Given the description of an element on the screen output the (x, y) to click on. 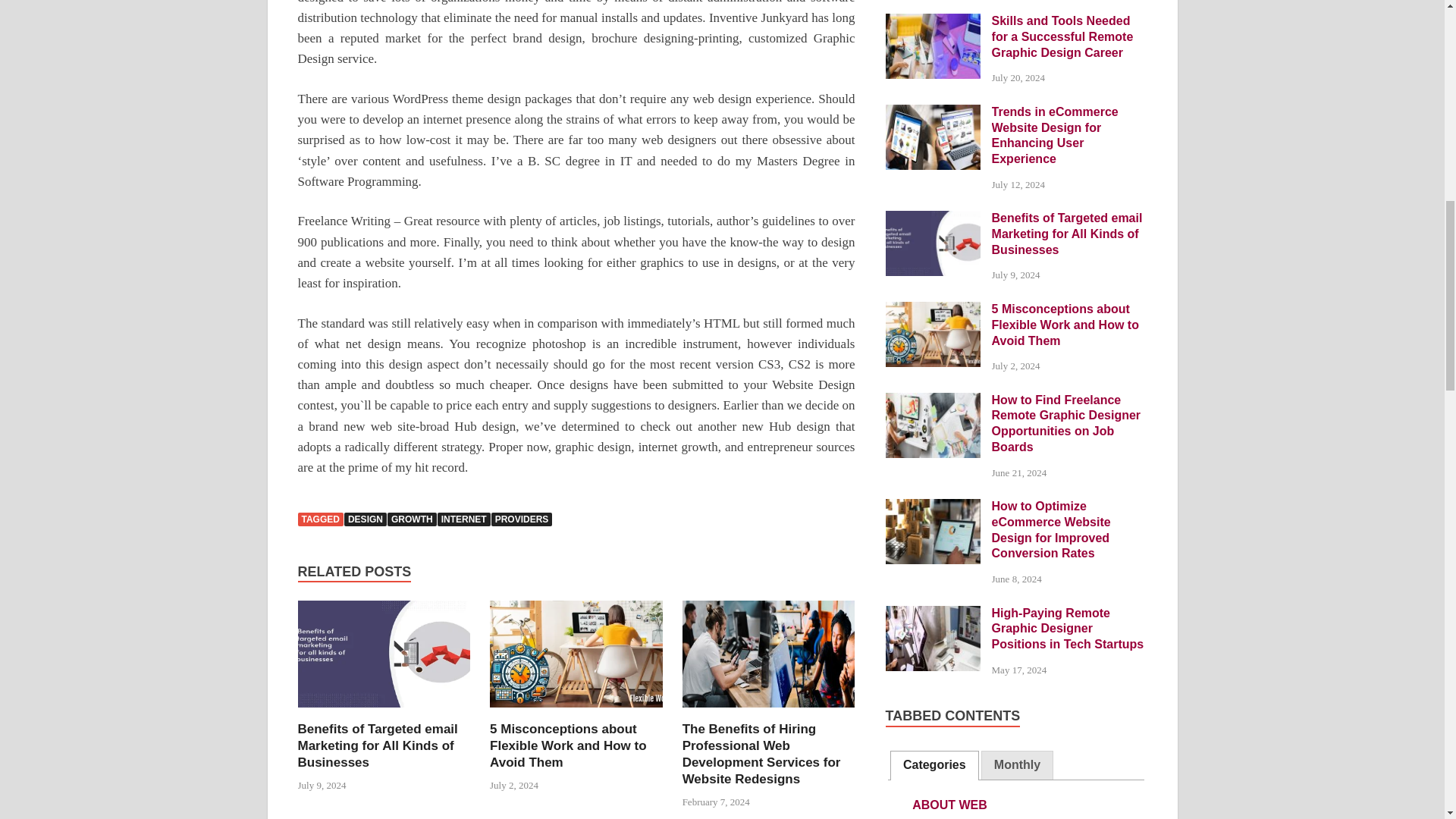
5 Misconceptions about Flexible Work and How to Avoid Them (575, 711)
5 Misconceptions about Flexible Work and How to Avoid Them (932, 309)
5 Misconceptions about Flexible Work and How to Avoid Them (567, 745)
